Given the description of an element on the screen output the (x, y) to click on. 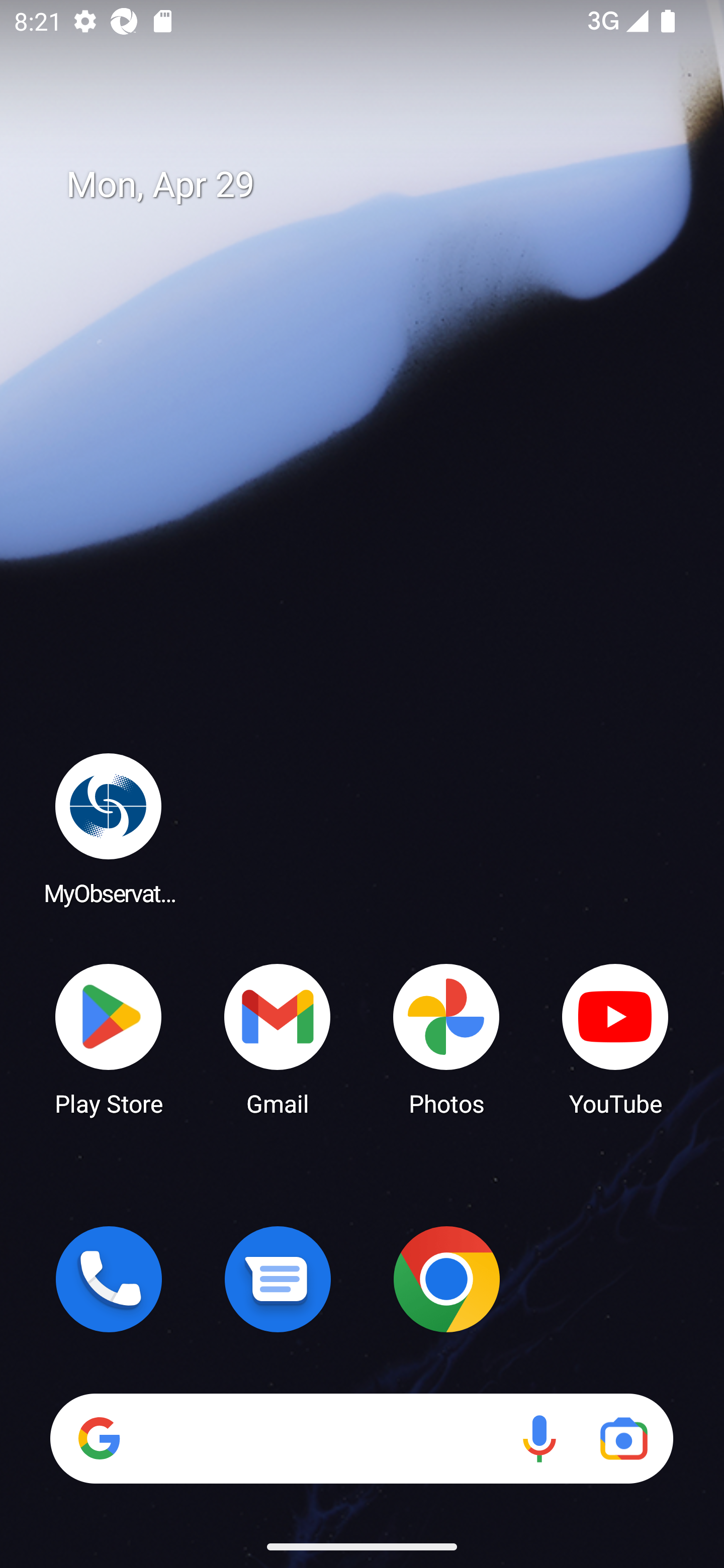
Mon, Apr 29 (375, 184)
MyObservatory (108, 828)
Play Store (108, 1038)
Gmail (277, 1038)
Photos (445, 1038)
YouTube (615, 1038)
Phone (108, 1279)
Messages (277, 1279)
Chrome (446, 1279)
Voice search (539, 1438)
Google Lens (623, 1438)
